Given the description of an element on the screen output the (x, y) to click on. 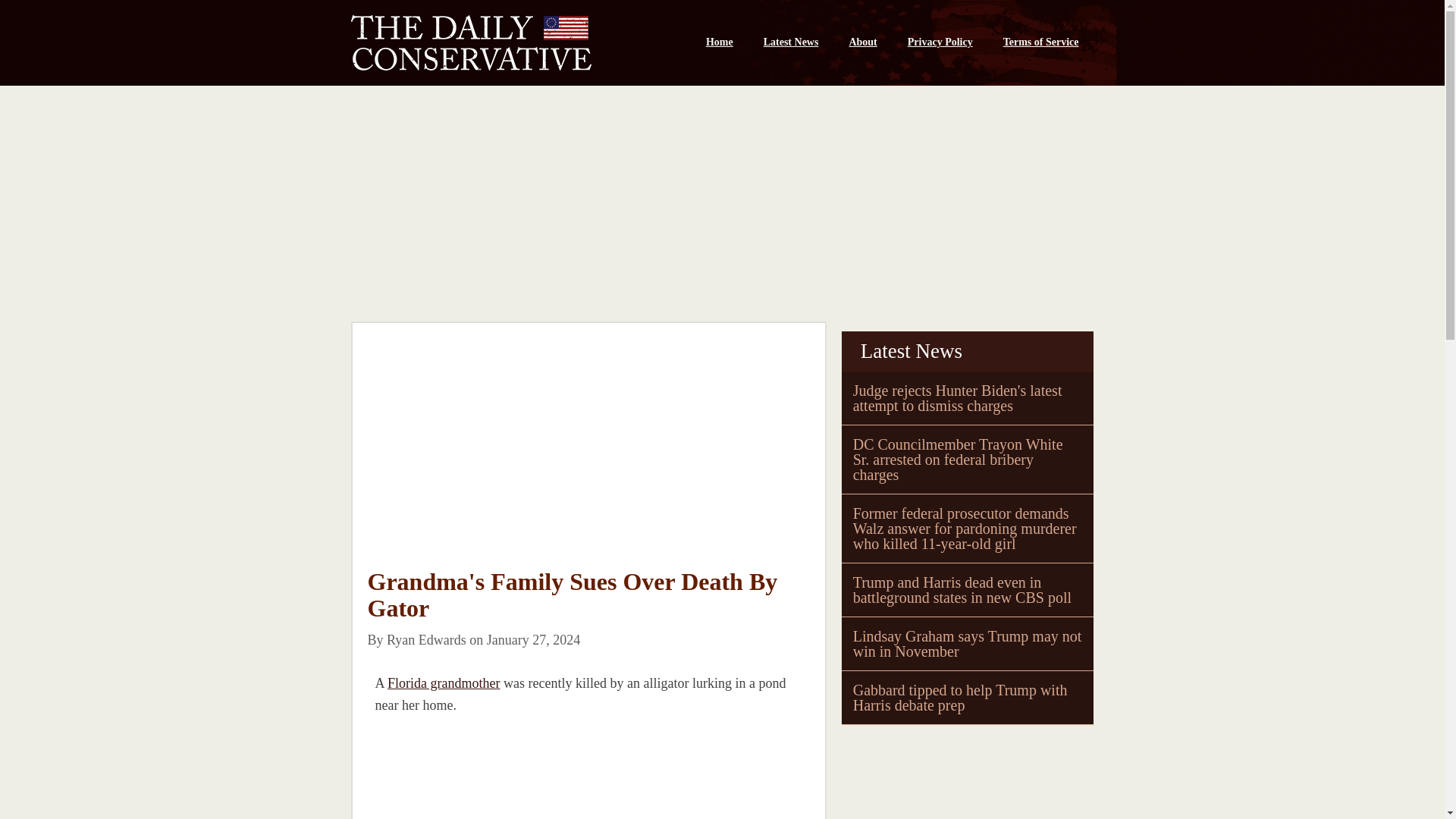
Florida grandmother (443, 683)
Advertisement (587, 456)
Ryan Edwards (426, 639)
Advertisement (480, 774)
About (861, 42)
Privacy Policy (940, 42)
